Given the description of an element on the screen output the (x, y) to click on. 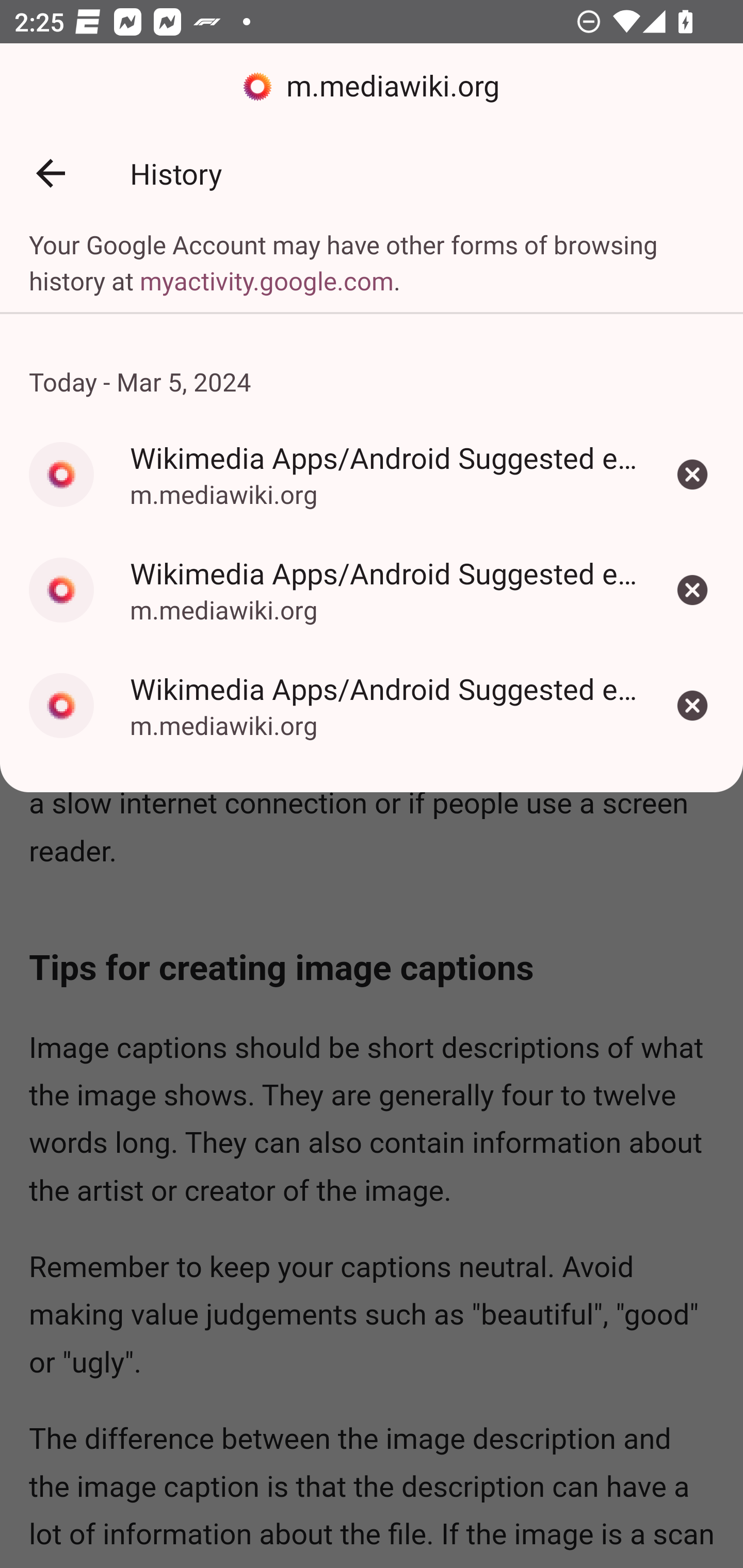
m.mediawiki.org (371, 86)
Back (50, 173)
